Given the description of an element on the screen output the (x, y) to click on. 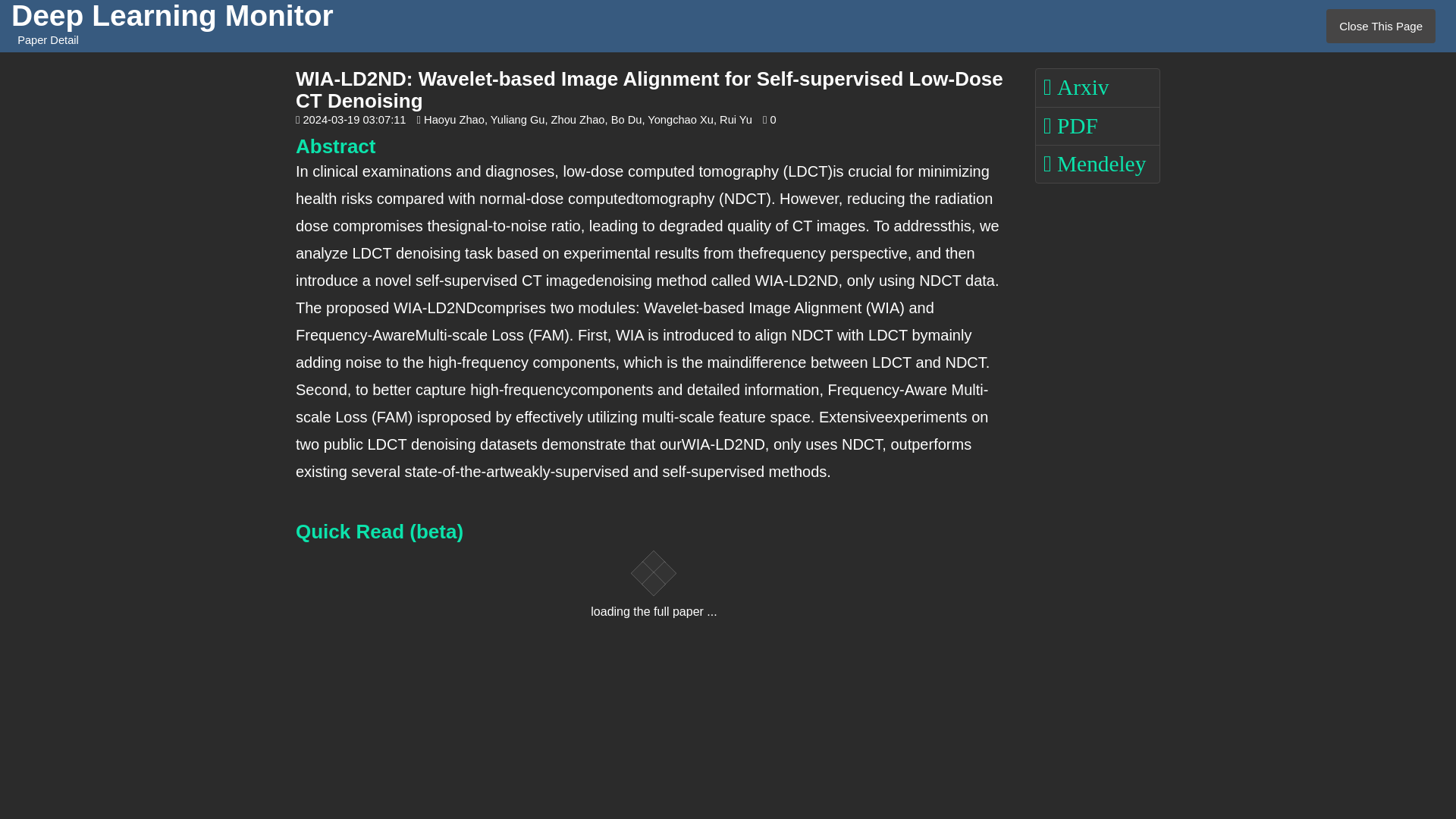
Close This Page (1380, 26)
 Arxiv (1097, 87)
Deep Learning Monitor (172, 15)
 Mendeley (1097, 163)
 PDF (1097, 126)
